Given the description of an element on the screen output the (x, y) to click on. 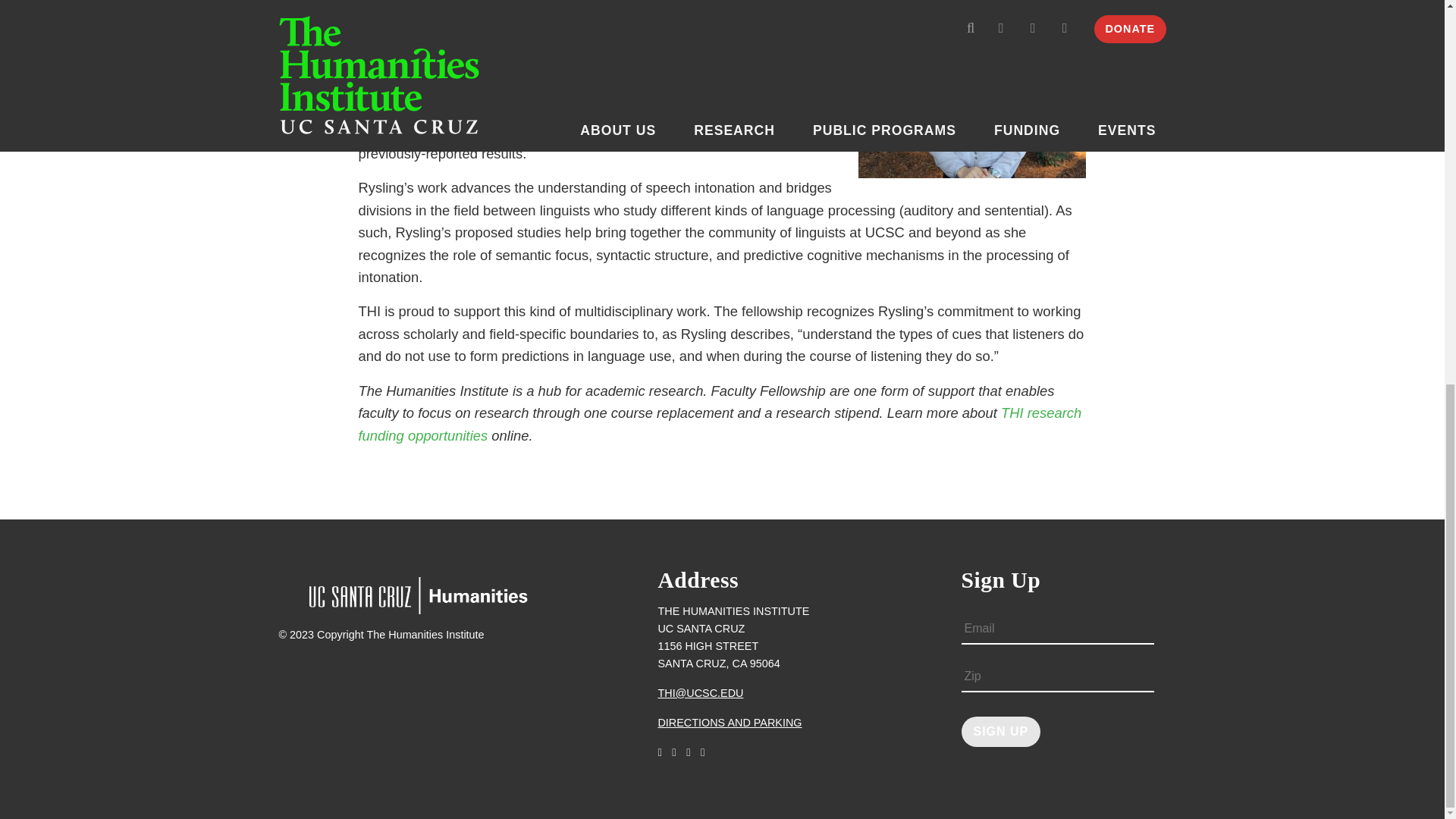
Sign Up (1000, 731)
